Given the description of an element on the screen output the (x, y) to click on. 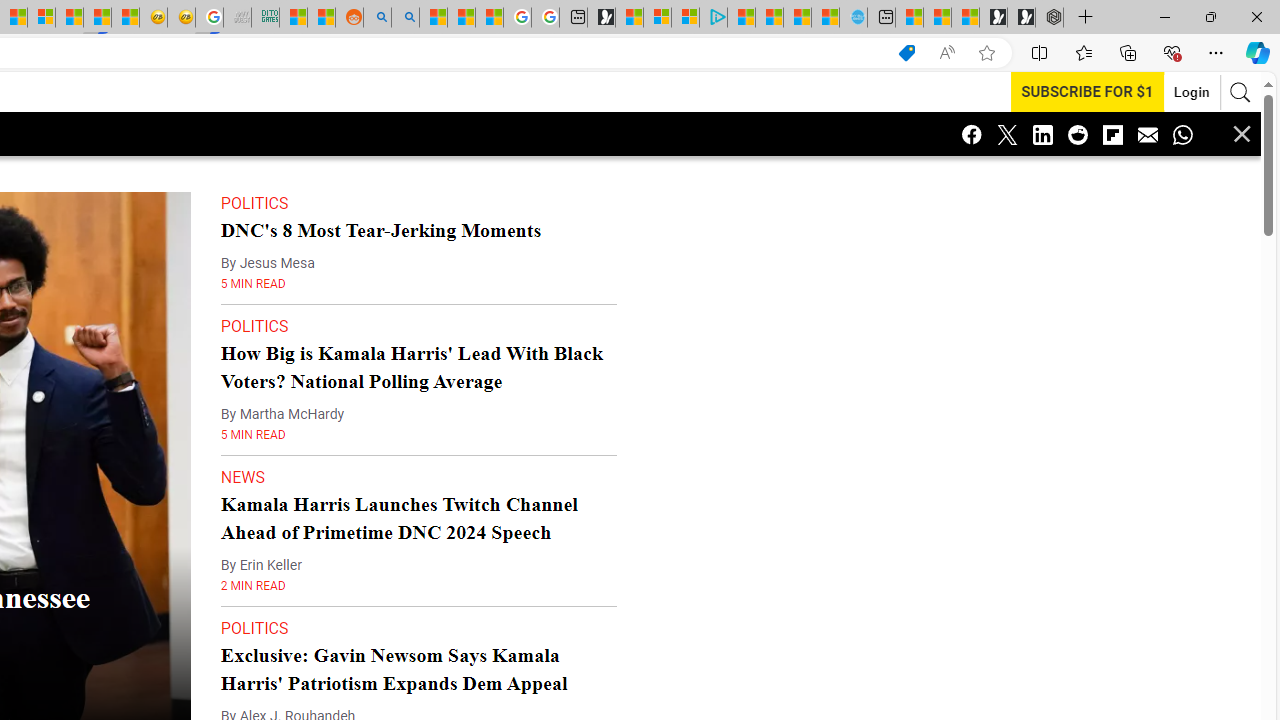
POLITICS (254, 588)
Class: icon-twitter (1007, 133)
MSNBC - MSN (293, 17)
Login (1179, 92)
Home | Sky Blue Bikes - Sky Blue Bikes (852, 17)
DNC's 8 Most Tear-Jerking Moments (380, 189)
By Erin Keller (261, 525)
